Given the description of an element on the screen output the (x, y) to click on. 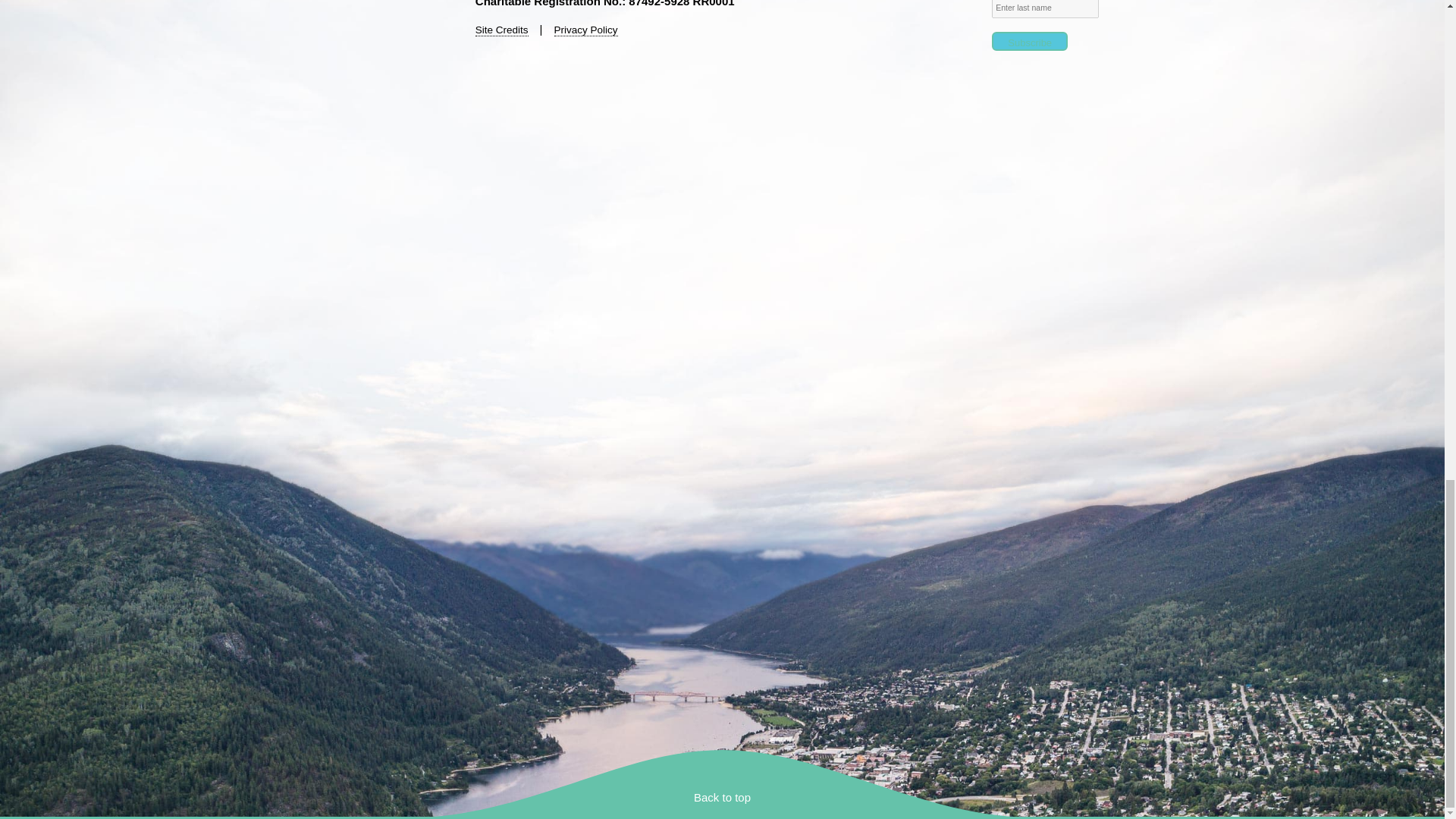
Privacy Policy (585, 30)
Subscribe (1029, 40)
Back to top (721, 797)
Site Credits (502, 30)
